Given the description of an element on the screen output the (x, y) to click on. 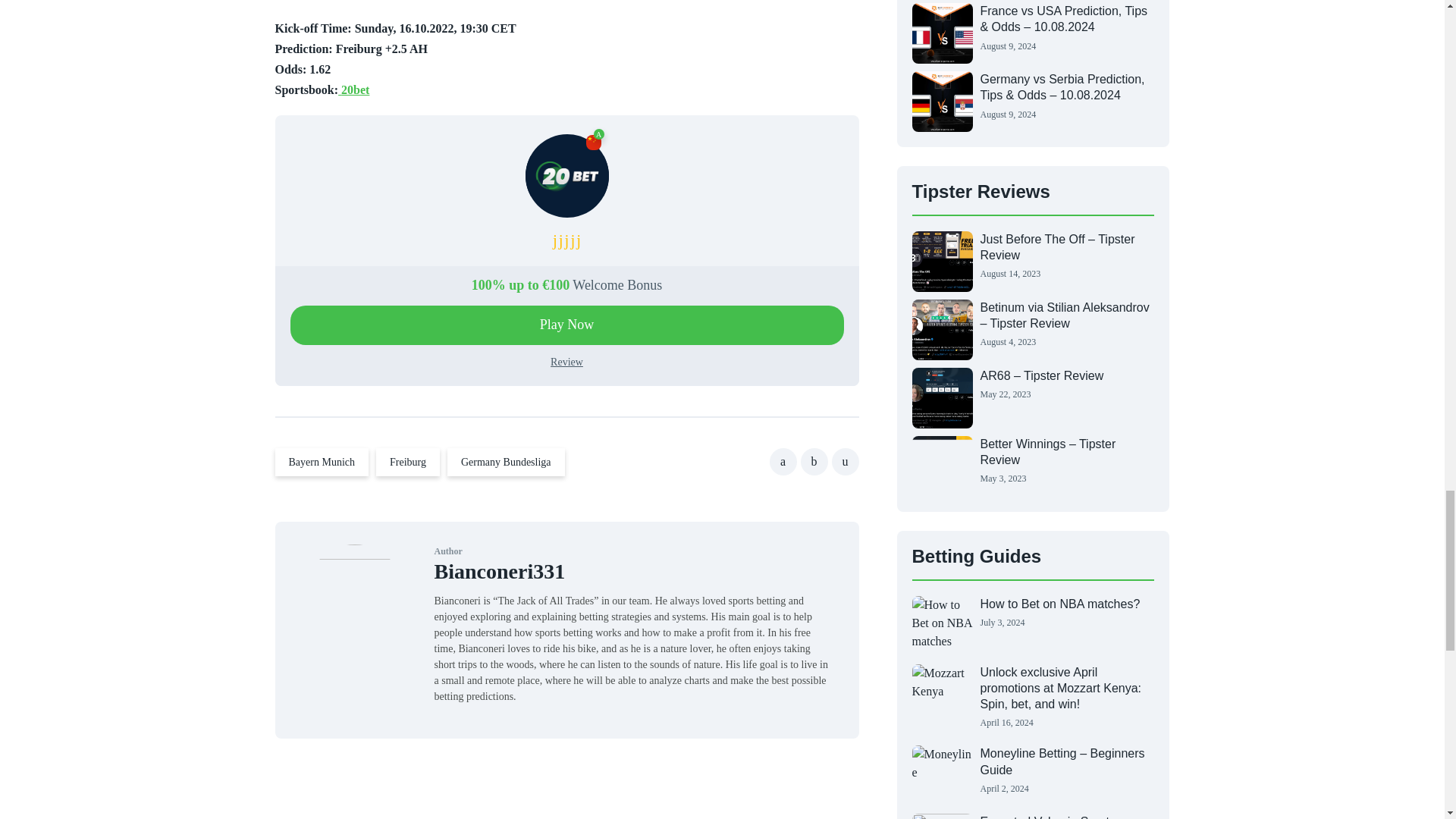
Share on Facebook (782, 461)
Share on Twitter (814, 461)
Share by email (845, 461)
